Given the description of an element on the screen output the (x, y) to click on. 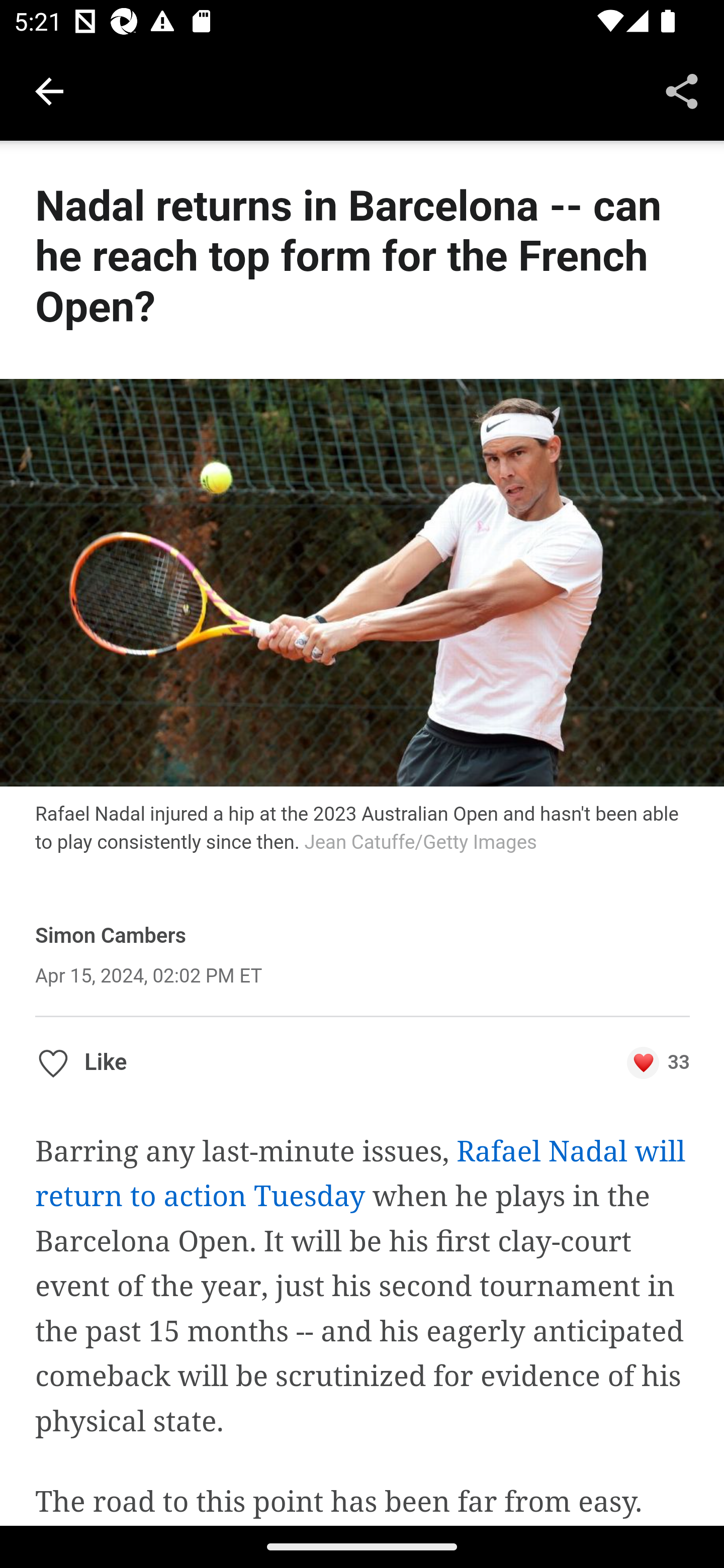
Navigate up (49, 91)
Share (681, 90)
